Given the description of an element on the screen output the (x, y) to click on. 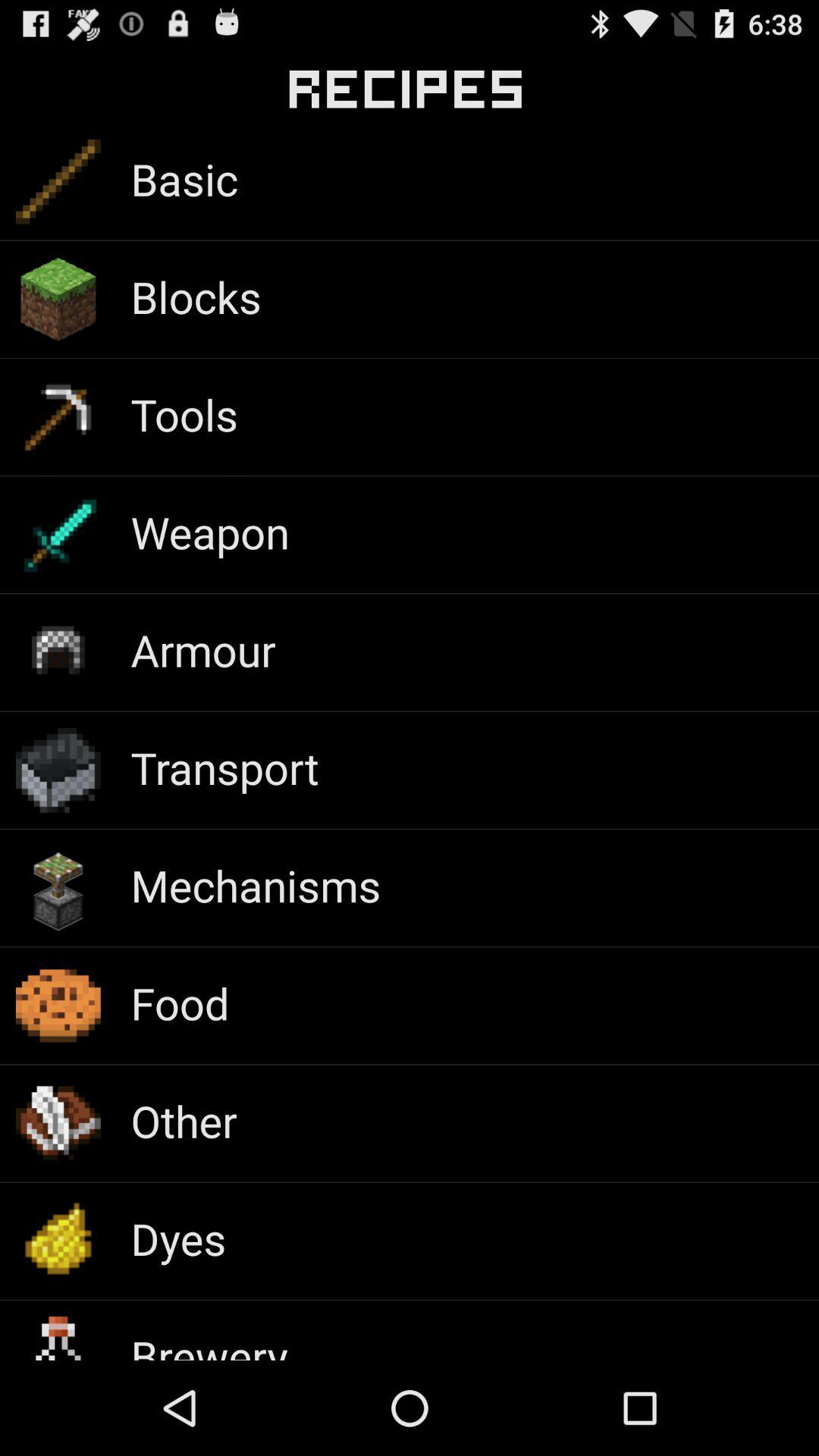
tap item above the tools app (195, 296)
